Given the description of an element on the screen output the (x, y) to click on. 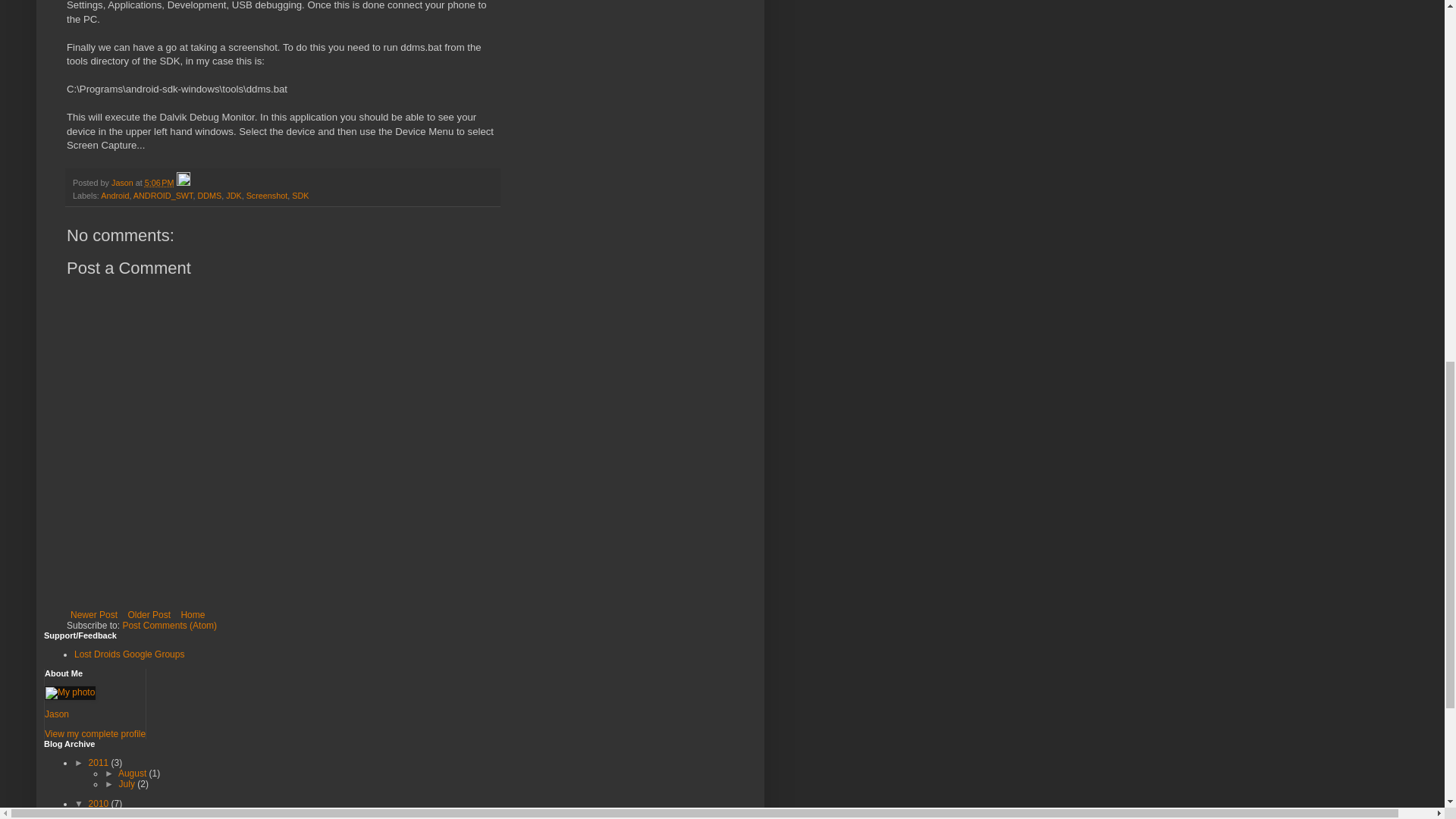
2011 (100, 762)
Newer Post (93, 615)
Older Post (148, 615)
2010 (100, 803)
JDK (233, 194)
SDK (300, 194)
Home (192, 615)
Android (114, 194)
August (133, 773)
Jason (123, 182)
Jason (56, 714)
Screenshot (267, 194)
permanent link (159, 182)
Older Post (148, 615)
author profile (123, 182)
